Given the description of an element on the screen output the (x, y) to click on. 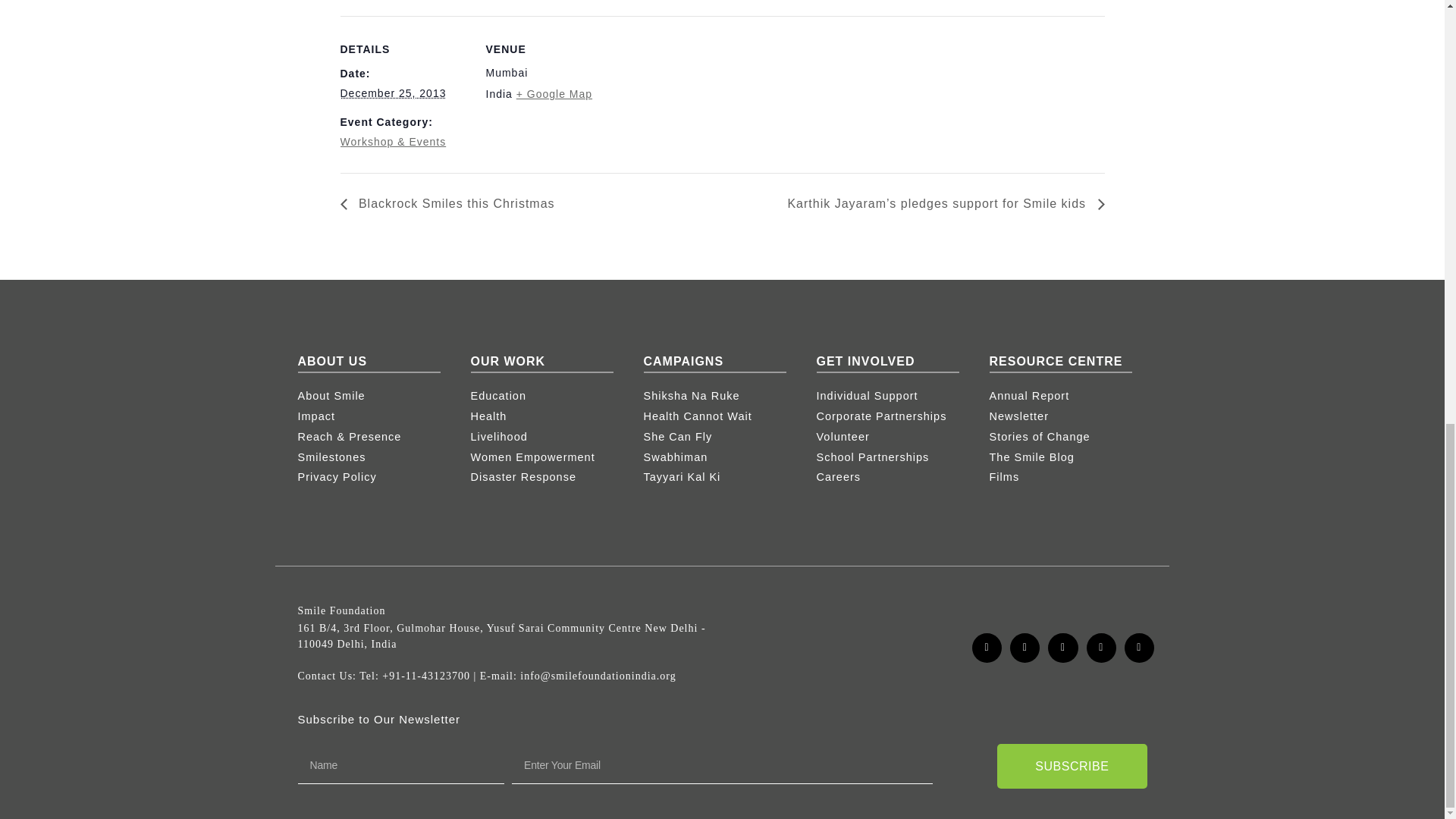
2013-12-25 (392, 92)
Click to view a Google Map (554, 93)
Click to Call (425, 675)
